Given the description of an element on the screen output the (x, y) to click on. 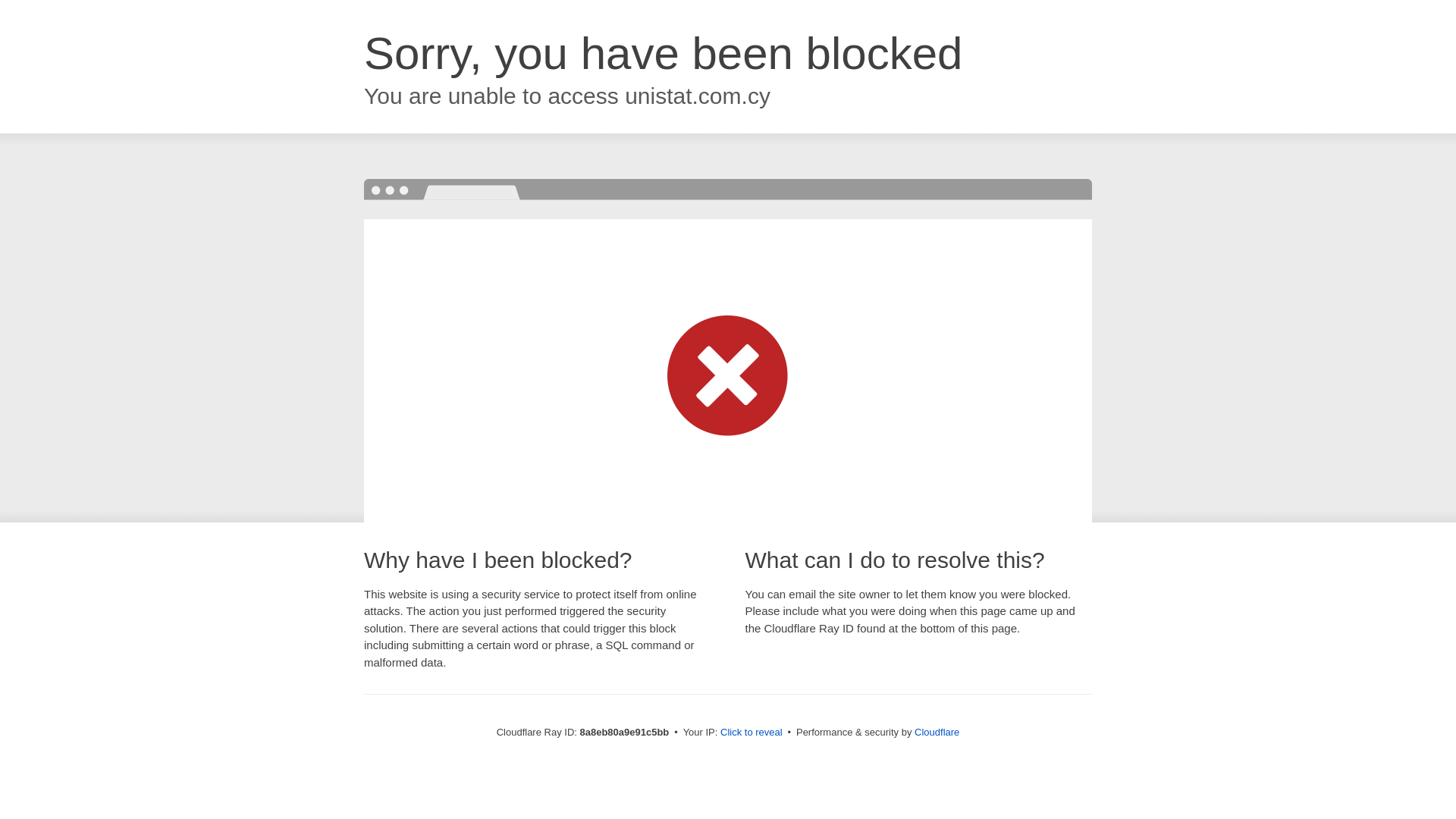
Cloudflare (936, 731)
Click to reveal (751, 732)
